Given the description of an element on the screen output the (x, y) to click on. 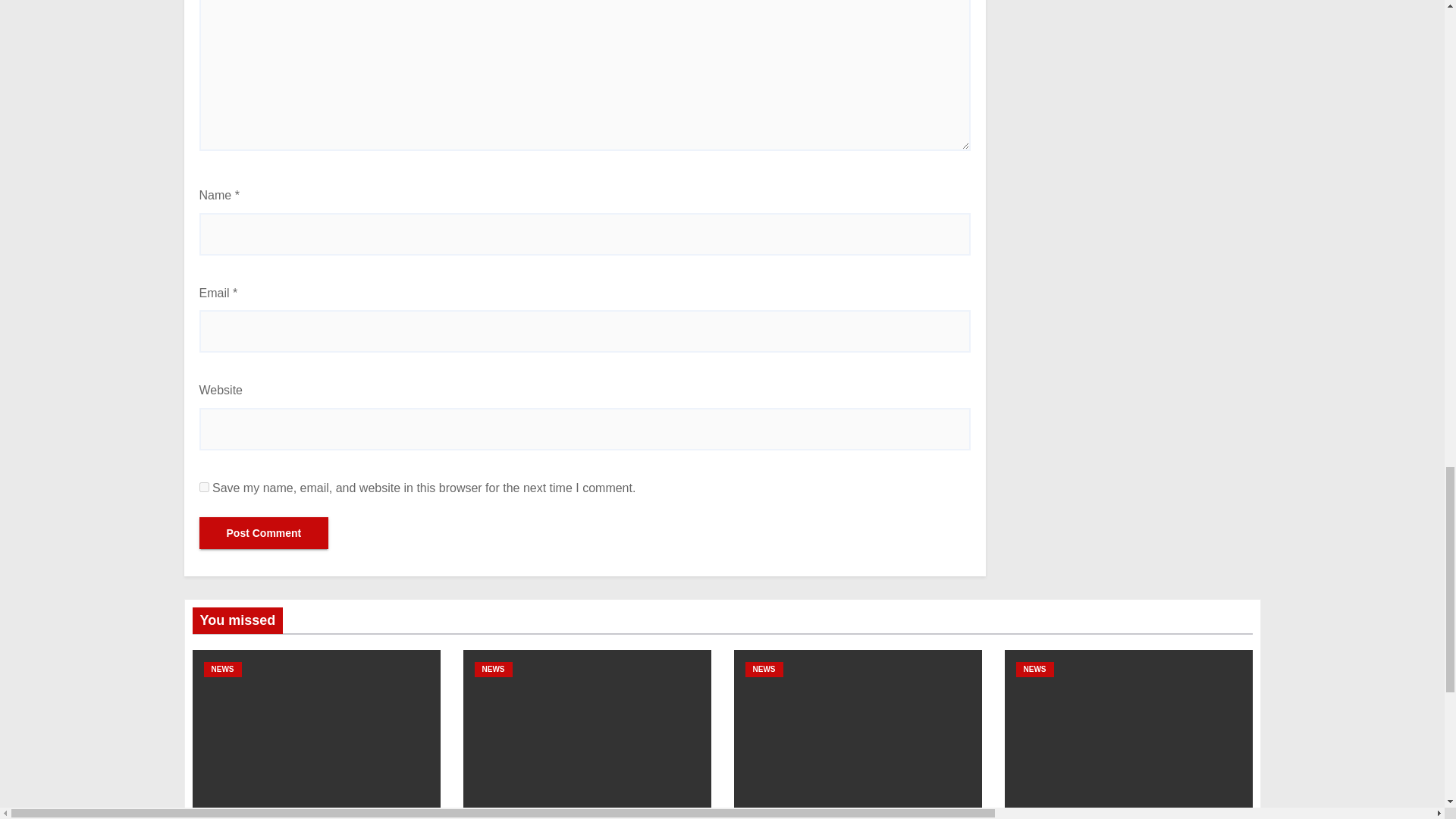
yes (203, 487)
Post Comment (263, 532)
